Given the description of an element on the screen output the (x, y) to click on. 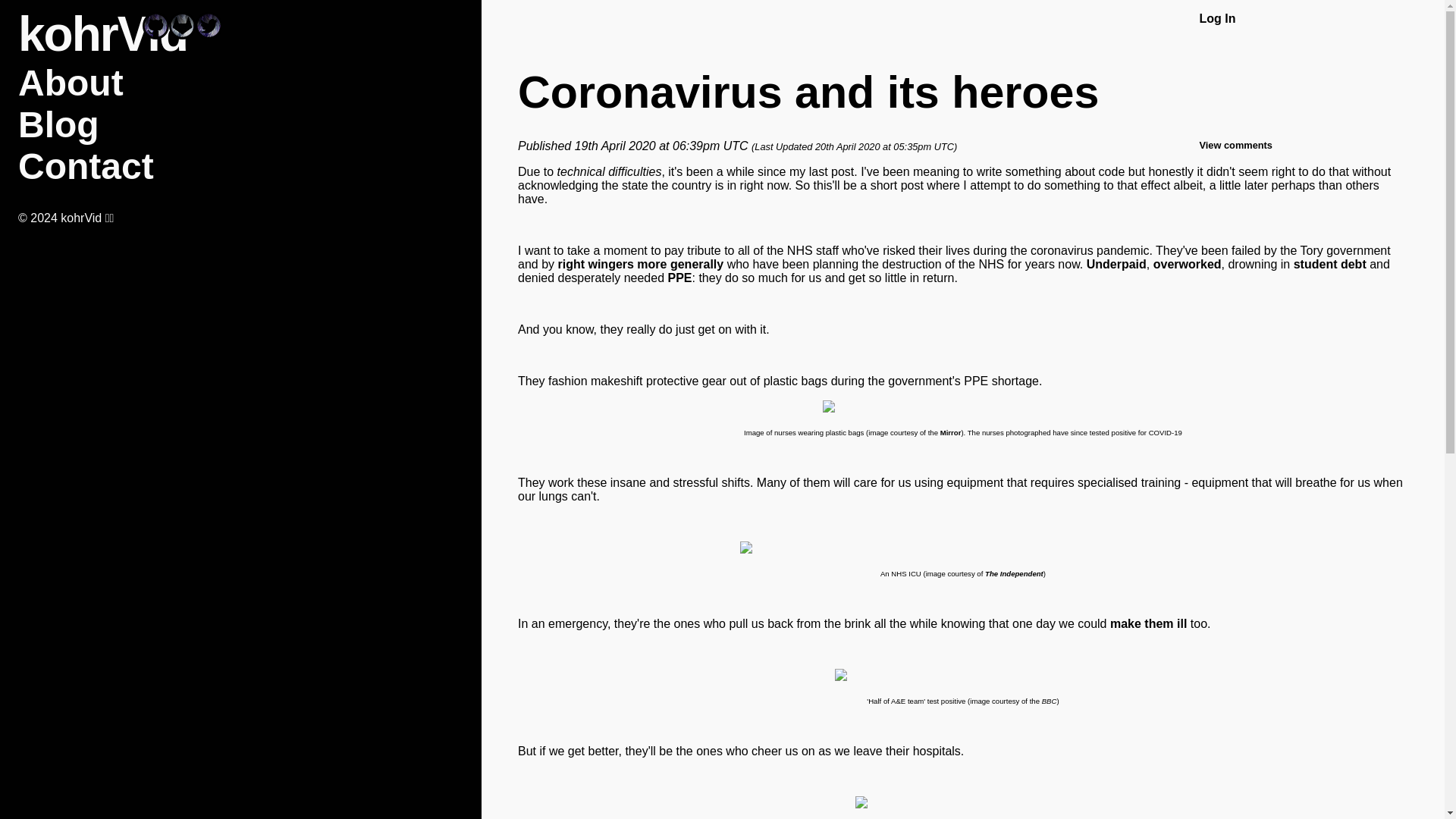
PPE (678, 277)
GitLab (181, 33)
overworked (1187, 264)
Blog (58, 124)
Underpaid (1116, 264)
Log In (1216, 18)
back to the nest (102, 33)
Contact (85, 166)
View comments (1235, 144)
GitHub (155, 33)
